Given the description of an element on the screen output the (x, y) to click on. 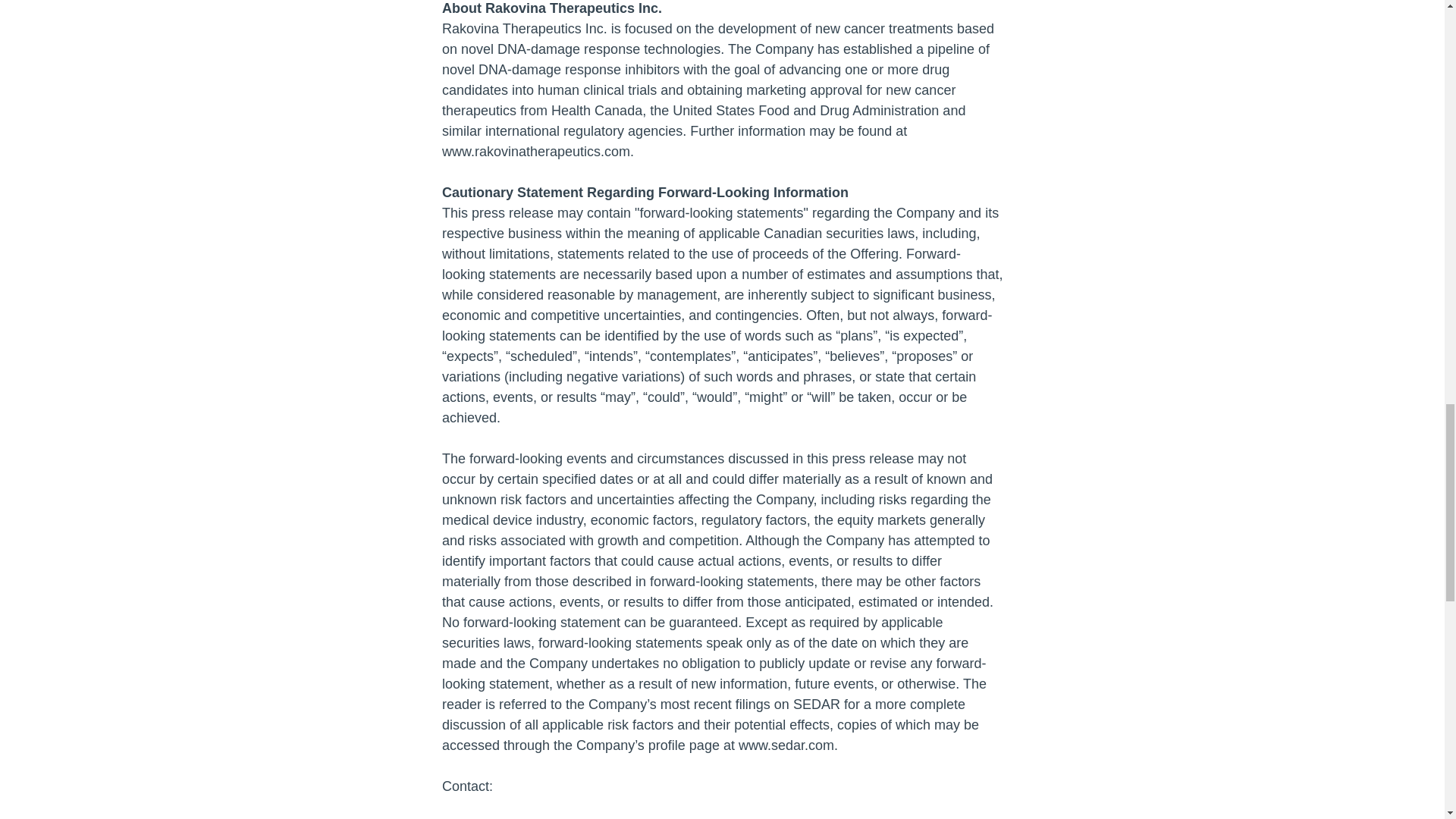
 www.rakovinatherapeutics.com. (675, 140)
www.sedar.com (785, 744)
